Given the description of an element on the screen output the (x, y) to click on. 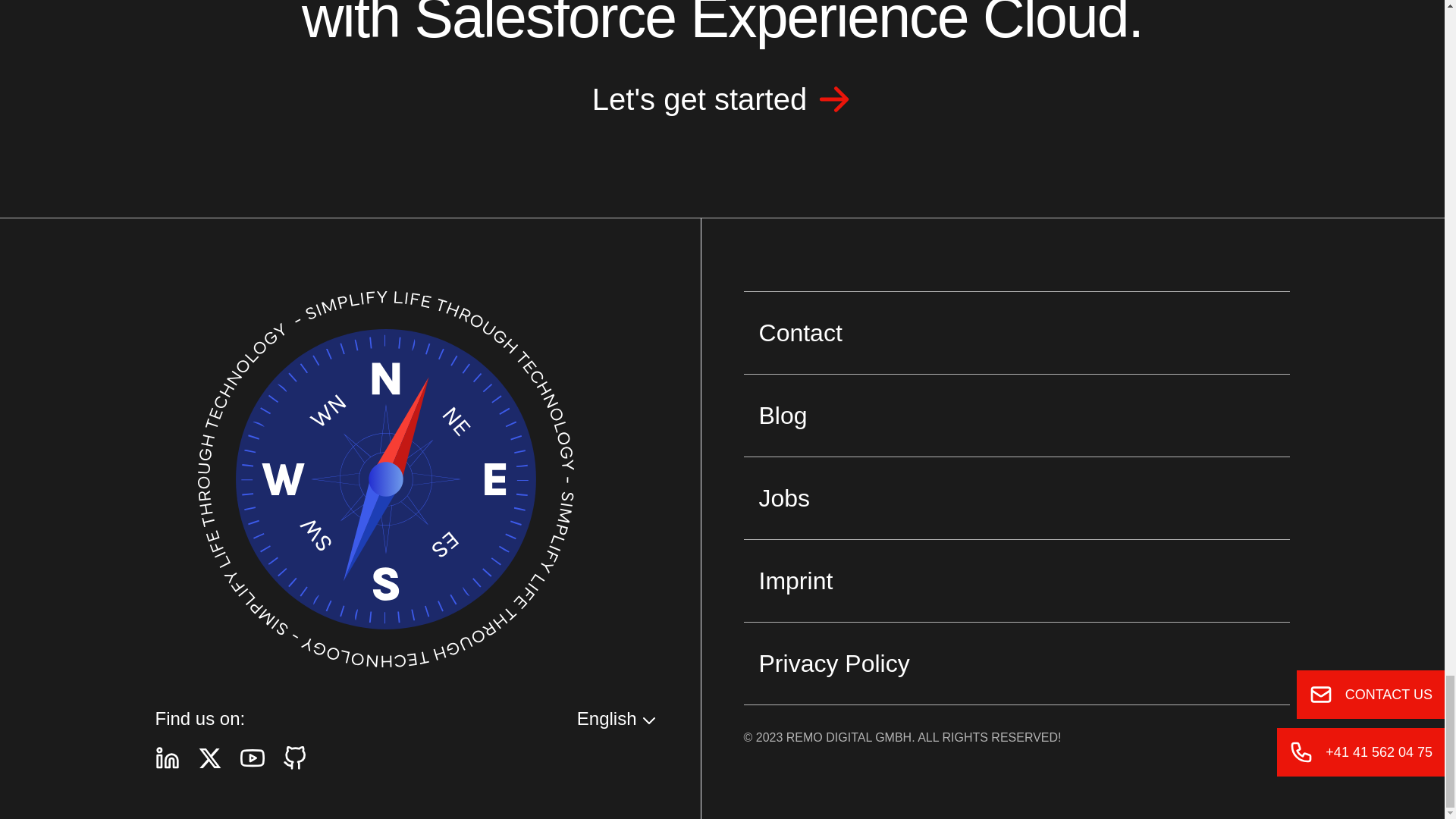
Imprint (1017, 579)
github (293, 758)
Privacy Policy (1017, 663)
LinkedIn Dewave (166, 758)
privacy policy Dewave (1017, 663)
Contact Dewave (1017, 332)
English (617, 719)
Contact Dewave (721, 105)
Jobs (1017, 497)
Blog (1017, 414)
